Given the description of an element on the screen output the (x, y) to click on. 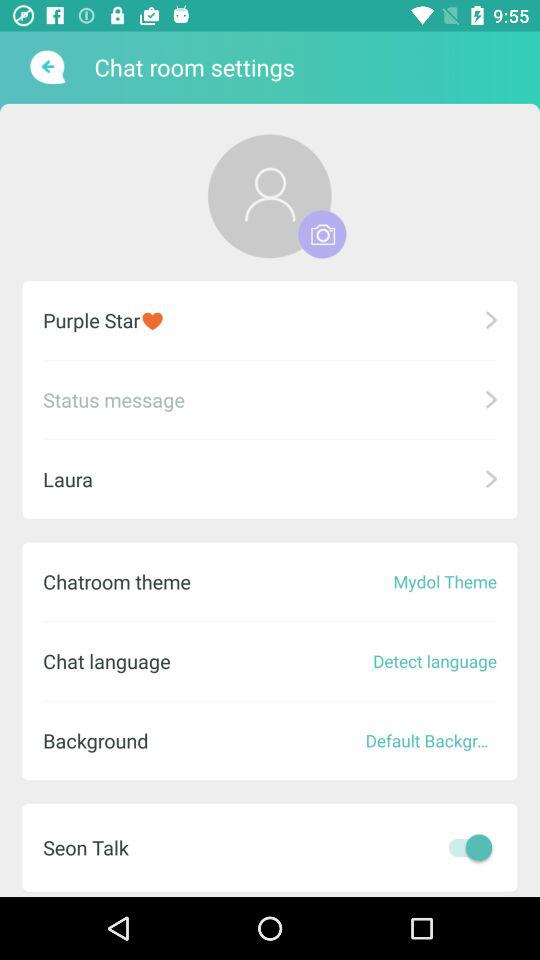
add profile image (322, 234)
